Given the description of an element on the screen output the (x, y) to click on. 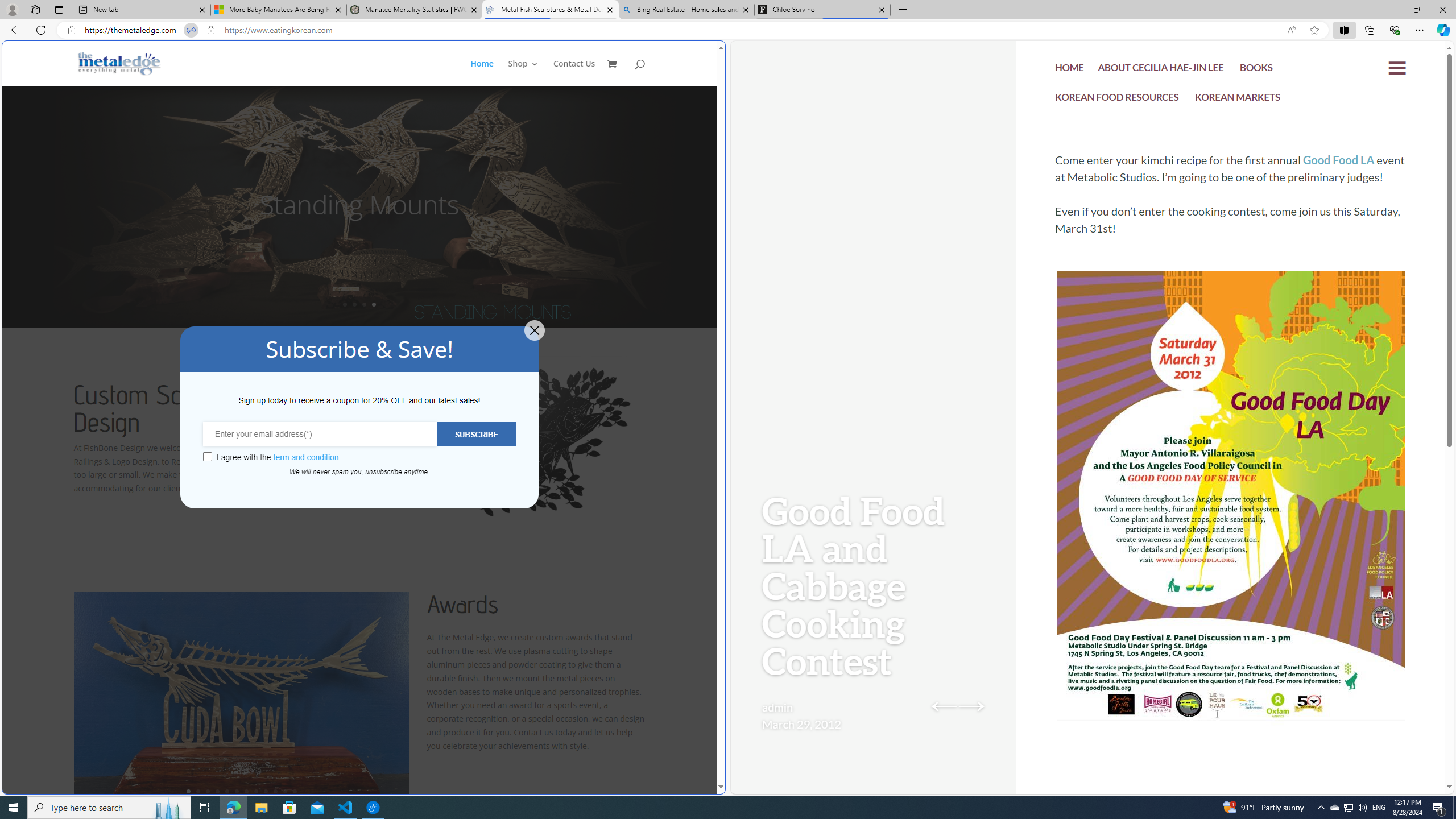
good food la poster (1231, 530)
11 (284, 790)
term and condition (306, 456)
Home (481, 72)
7 (246, 790)
1 (188, 790)
